Given the description of an element on the screen output the (x, y) to click on. 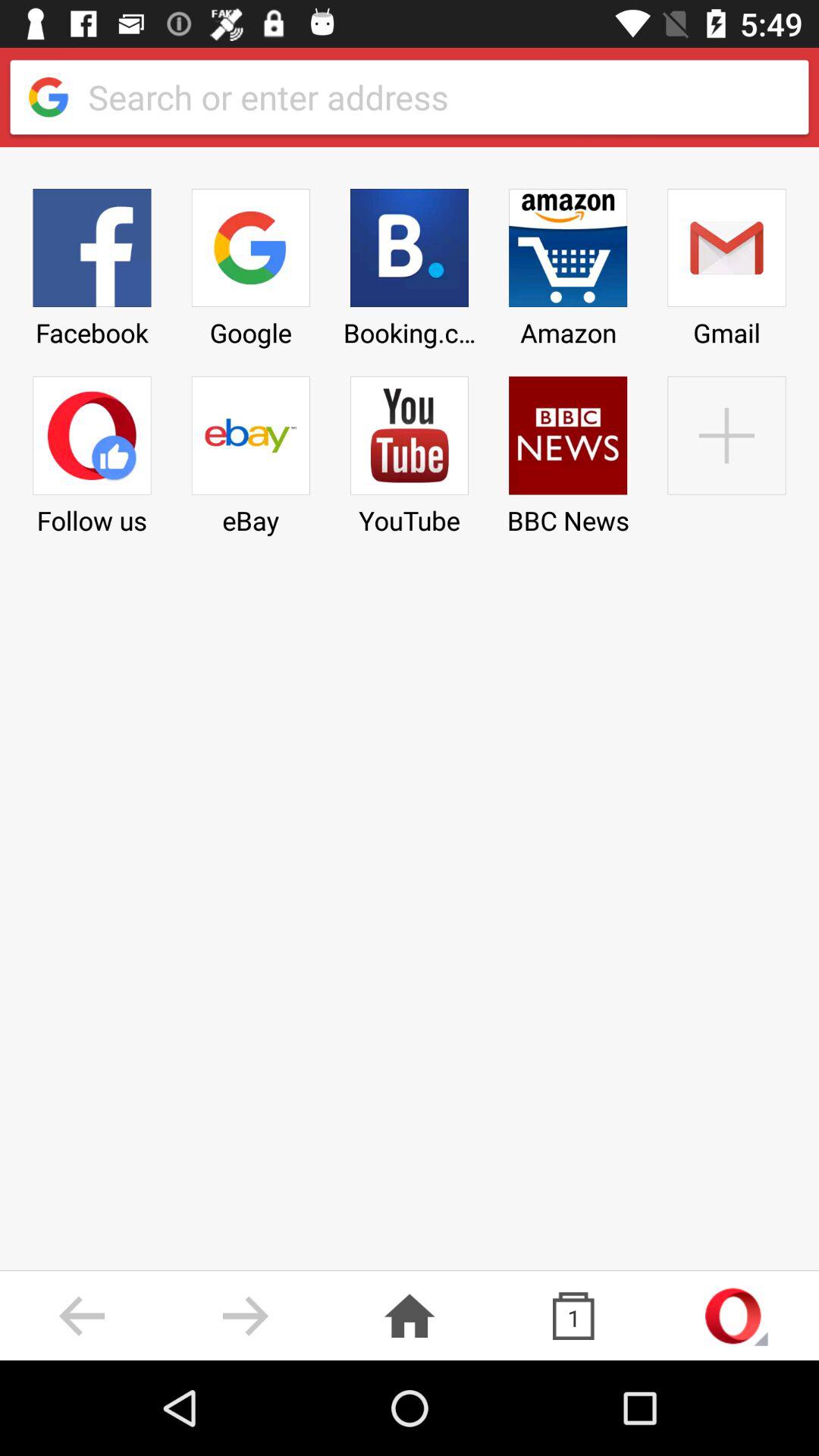
type to search (434, 97)
